Given the description of an element on the screen output the (x, y) to click on. 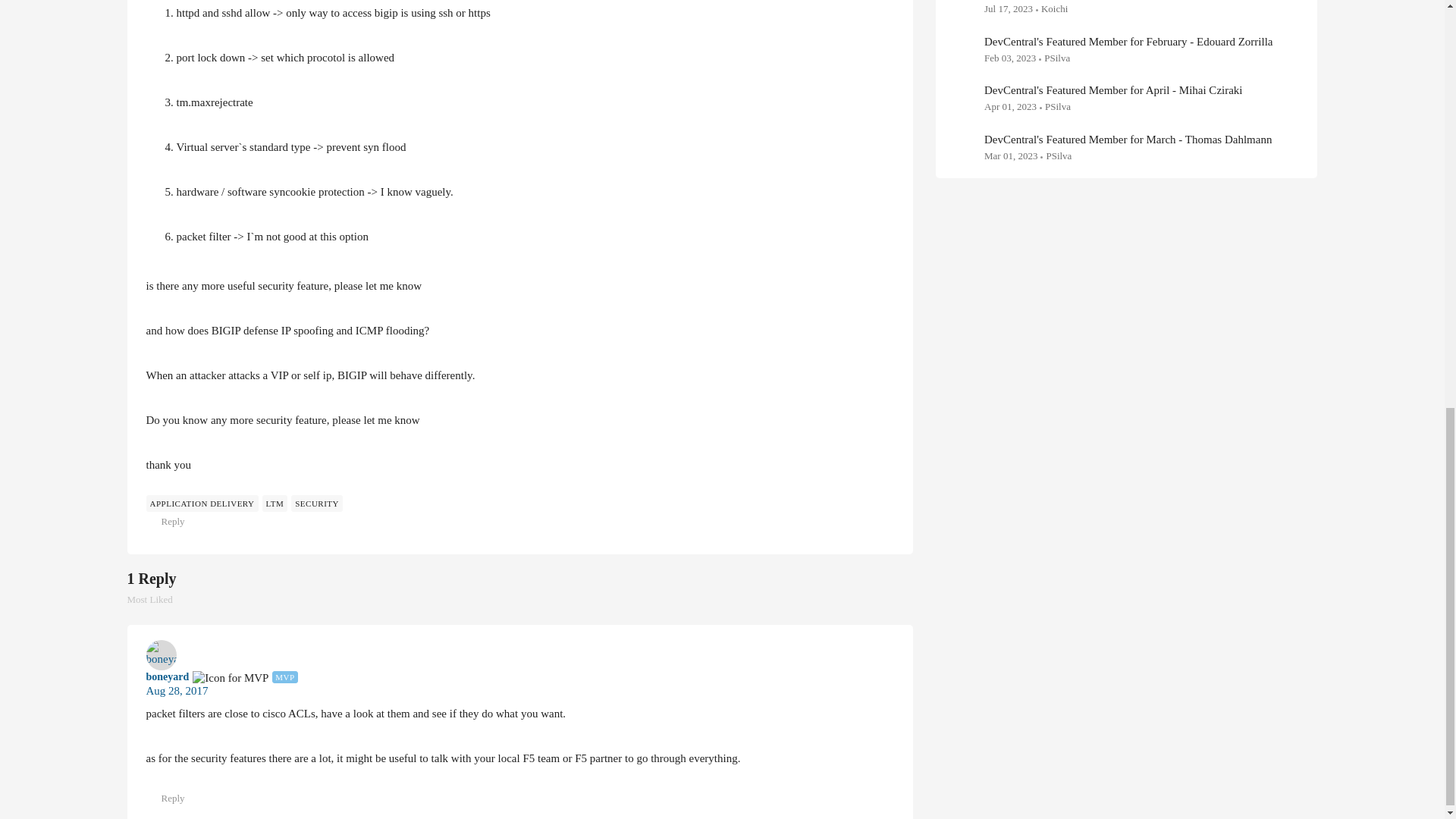
July 17, 2023 at 12:00 PM (1008, 8)
Reply (166, 798)
Reply (157, 599)
APPLICATION DELIVERY (166, 521)
August 28, 2017 at 7:28 PM (201, 503)
LTM (176, 690)
Aug 28, 2017 (275, 503)
SECURITY (176, 691)
February 3, 2023 at 7:02 PM (316, 503)
boneyard (1009, 57)
